Given the description of an element on the screen output the (x, y) to click on. 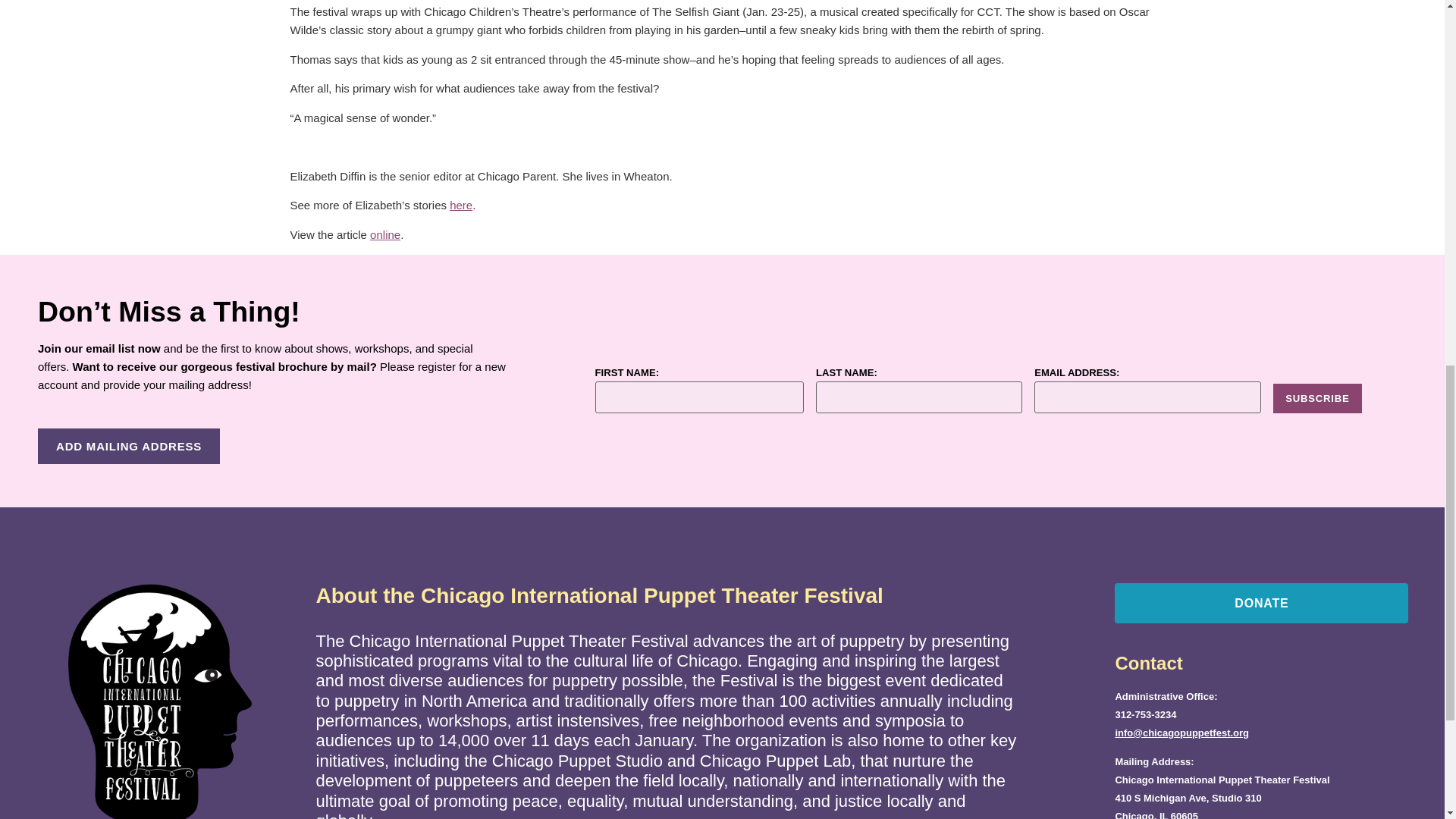
Subscribe (1316, 398)
Subscribe (1316, 398)
